Given the description of an element on the screen output the (x, y) to click on. 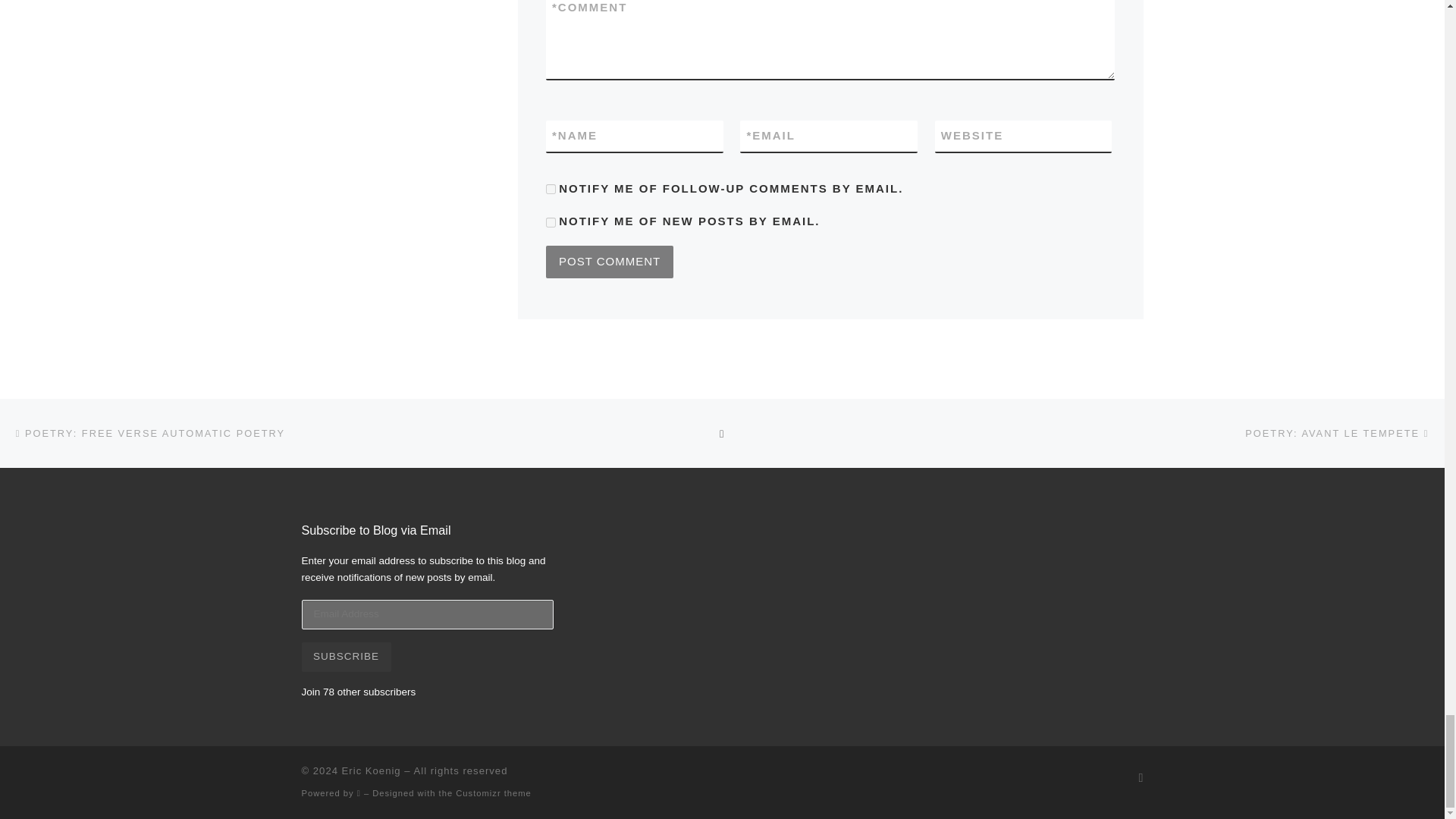
Post Comment (609, 262)
subscribe (551, 189)
subscribe (551, 222)
